Given the description of an element on the screen output the (x, y) to click on. 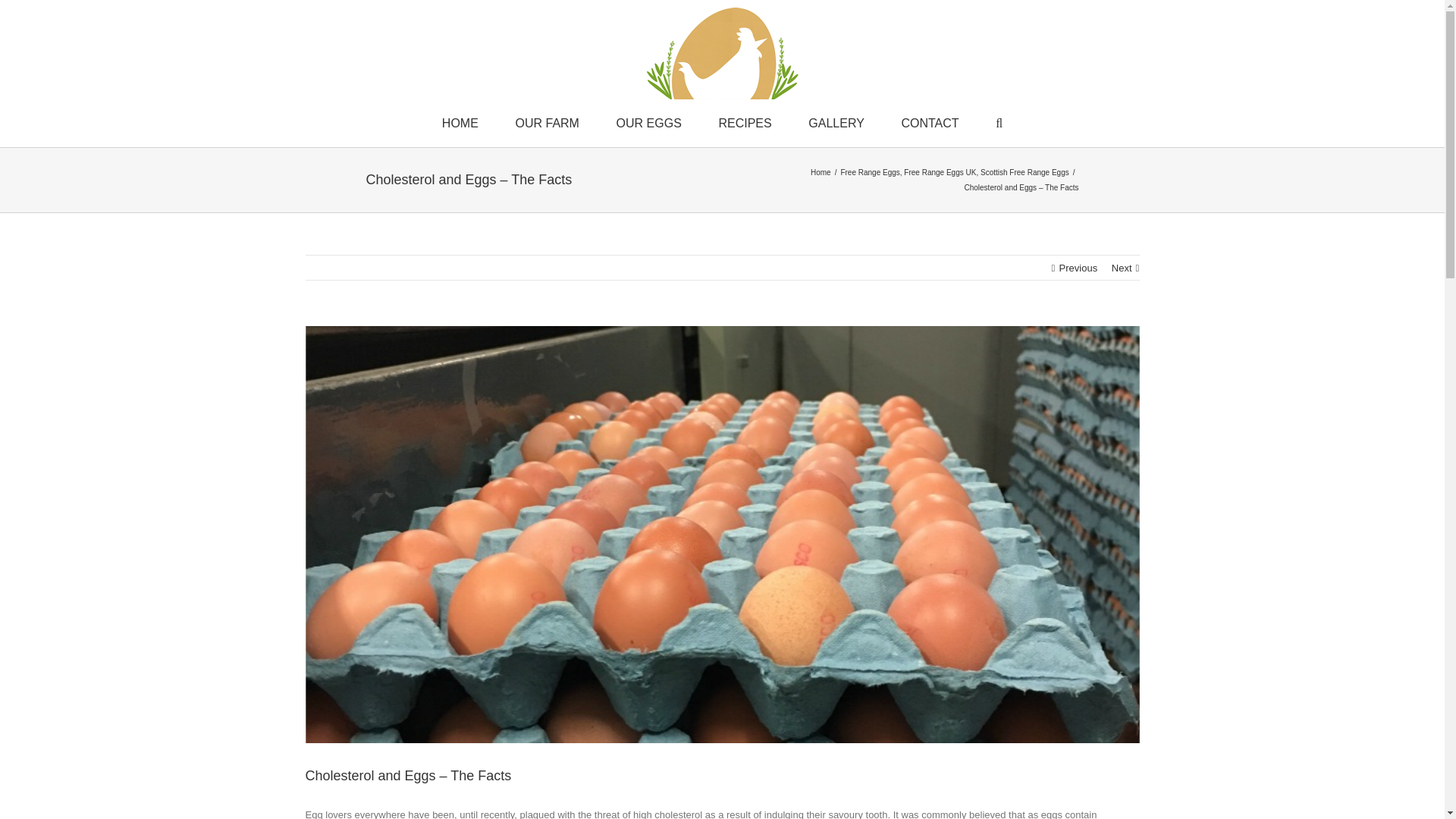
Home (820, 172)
Free Range Eggs UK (939, 172)
OUR FARM (546, 122)
Free Range Eggs (869, 172)
Scottish Free Range Eggs (1023, 172)
RECIPES (744, 122)
CONTACT (929, 122)
Previous (1078, 268)
GALLERY (836, 122)
OUR EGGS (648, 122)
